Given the description of an element on the screen output the (x, y) to click on. 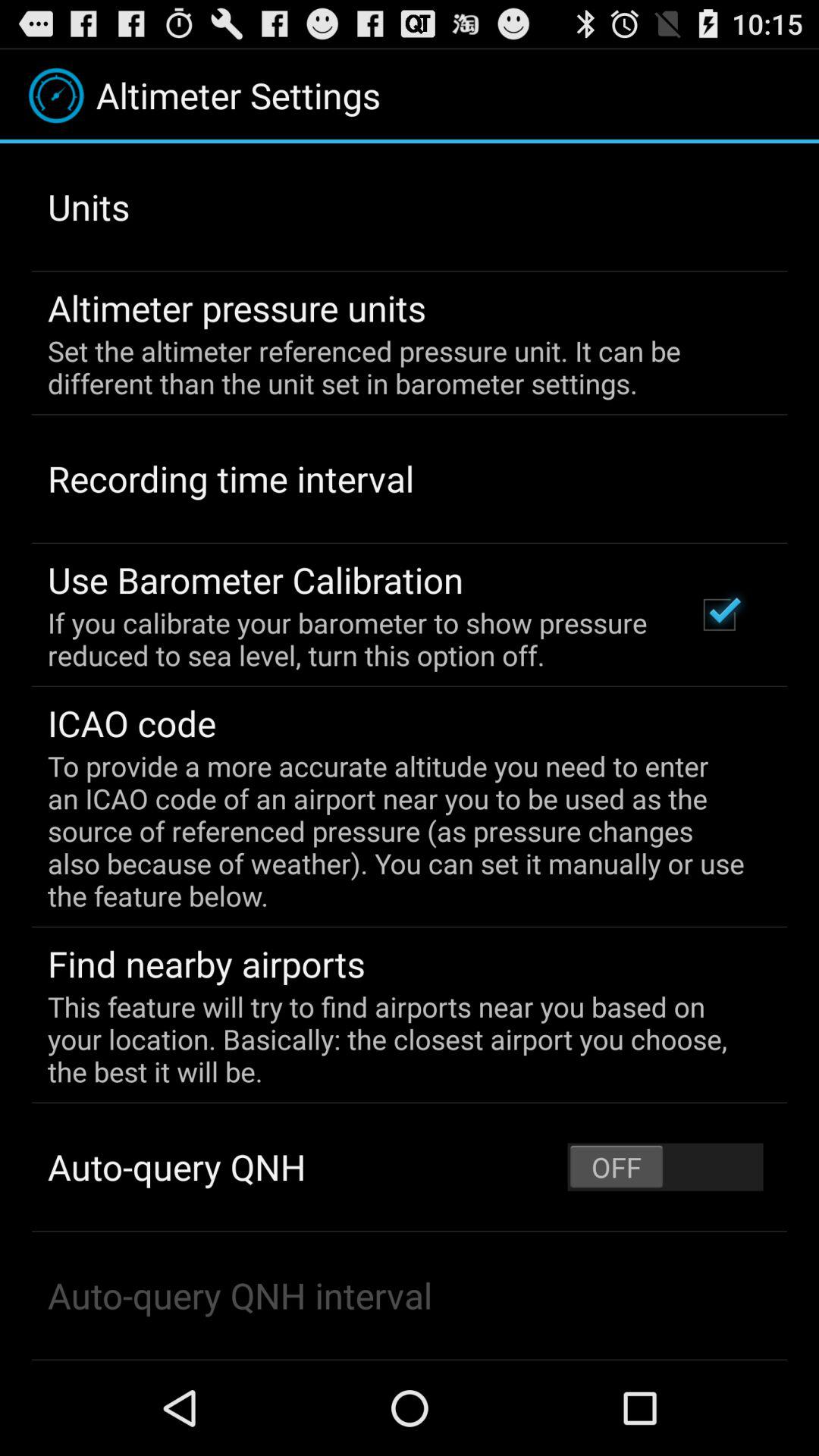
open item below this feature will item (665, 1166)
